Given the description of an element on the screen output the (x, y) to click on. 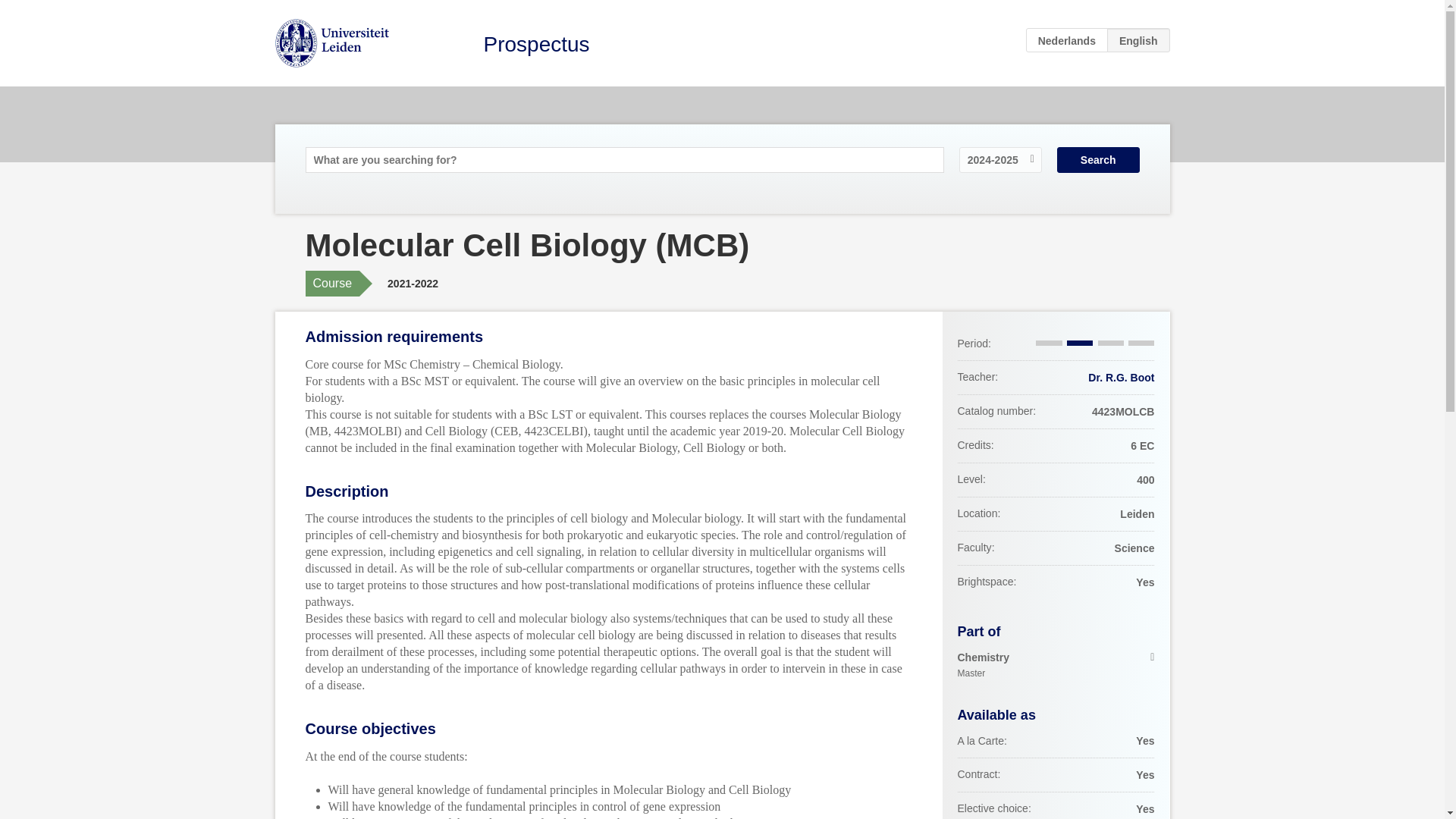
NL (1067, 39)
Prospectus (1055, 665)
Search (536, 44)
Dr. R.G. Boot (1098, 159)
